Given the description of an element on the screen output the (x, y) to click on. 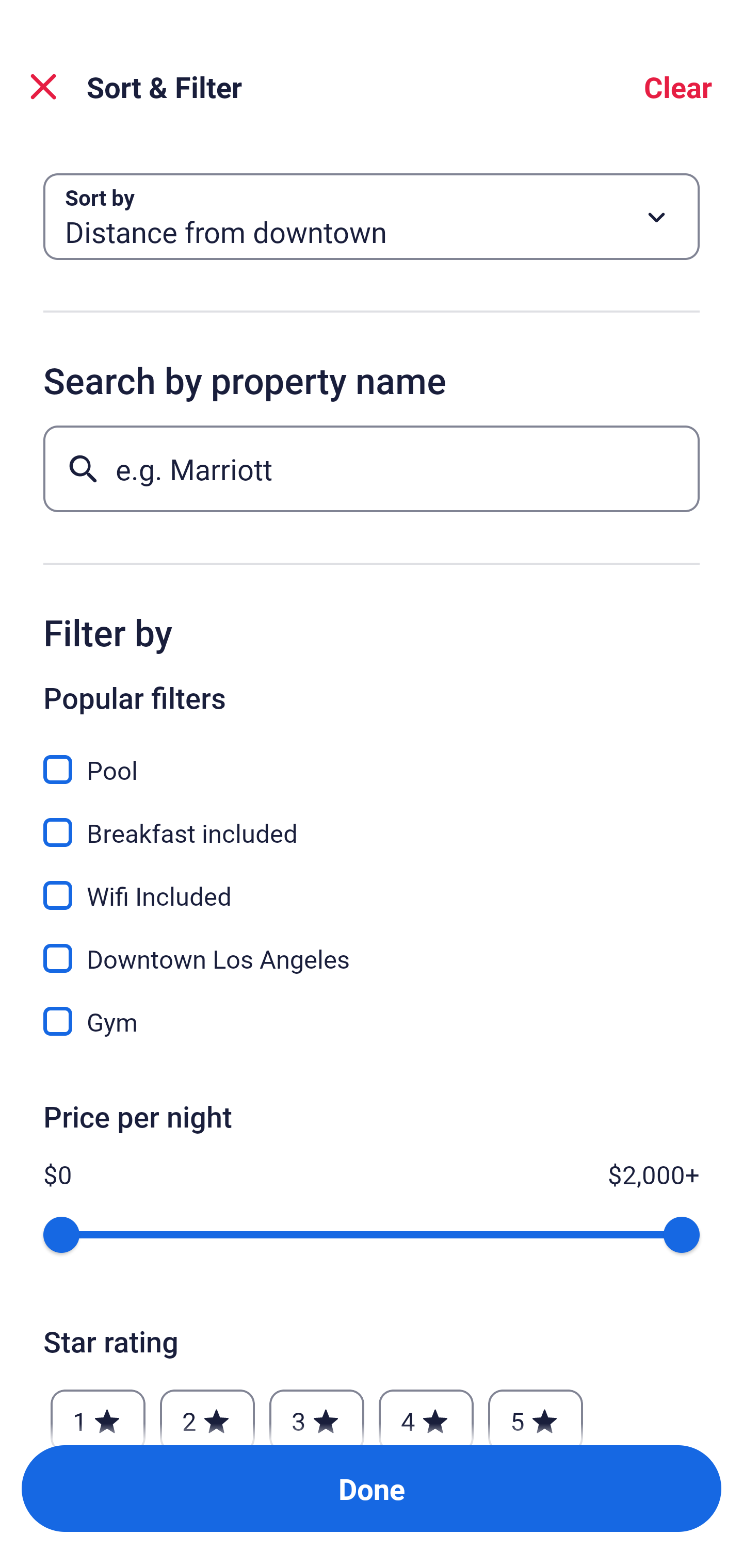
Close Sort and Filter (43, 86)
Clear (677, 86)
Sort by Button Distance from downtown (371, 217)
e.g. Marriott Button (371, 468)
Pool, Pool (371, 757)
Breakfast included, Breakfast included (371, 821)
Wifi Included, Wifi Included (371, 883)
Downtown Los Angeles, Downtown Los Angeles (371, 946)
Gym, Gym (371, 1021)
1 (97, 1411)
2 (206, 1411)
3 (316, 1411)
4 (426, 1411)
5 (535, 1411)
Apply and close Sort and Filter Done (371, 1488)
